Given the description of an element on the screen output the (x, y) to click on. 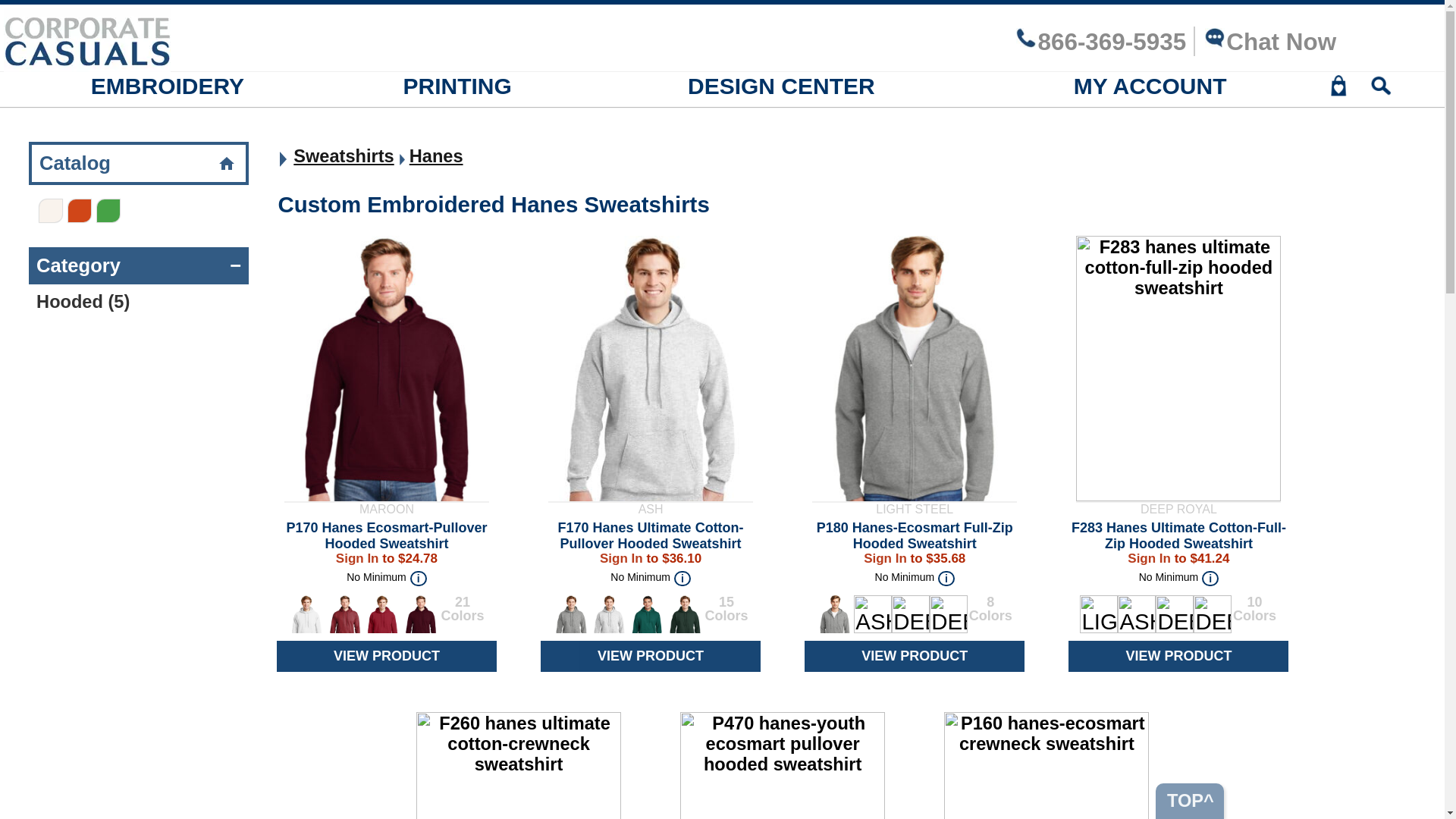
866-369-5935 (1099, 41)
SEARCH (1380, 90)
LIGHT STEEL (1099, 614)
ASH (1137, 614)
Chat Now (1269, 41)
SHOPPING BAG (1338, 90)
EMBROIDERY (167, 86)
Green (108, 210)
DESIGN CENTER (780, 86)
DEEP FOREST (910, 614)
